Given the description of an element on the screen output the (x, y) to click on. 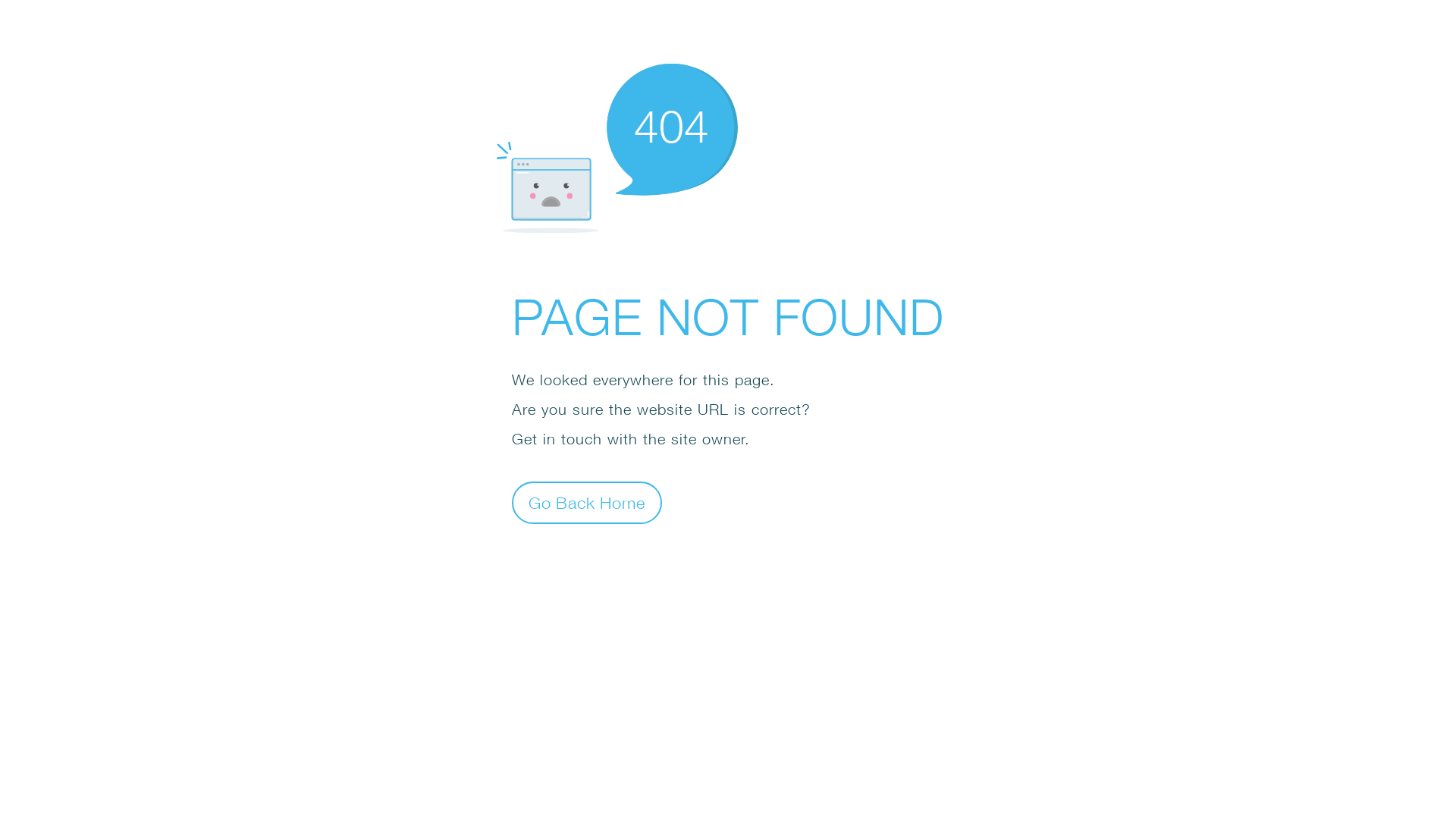
Go Back Home Element type: text (586, 502)
